Given the description of an element on the screen output the (x, y) to click on. 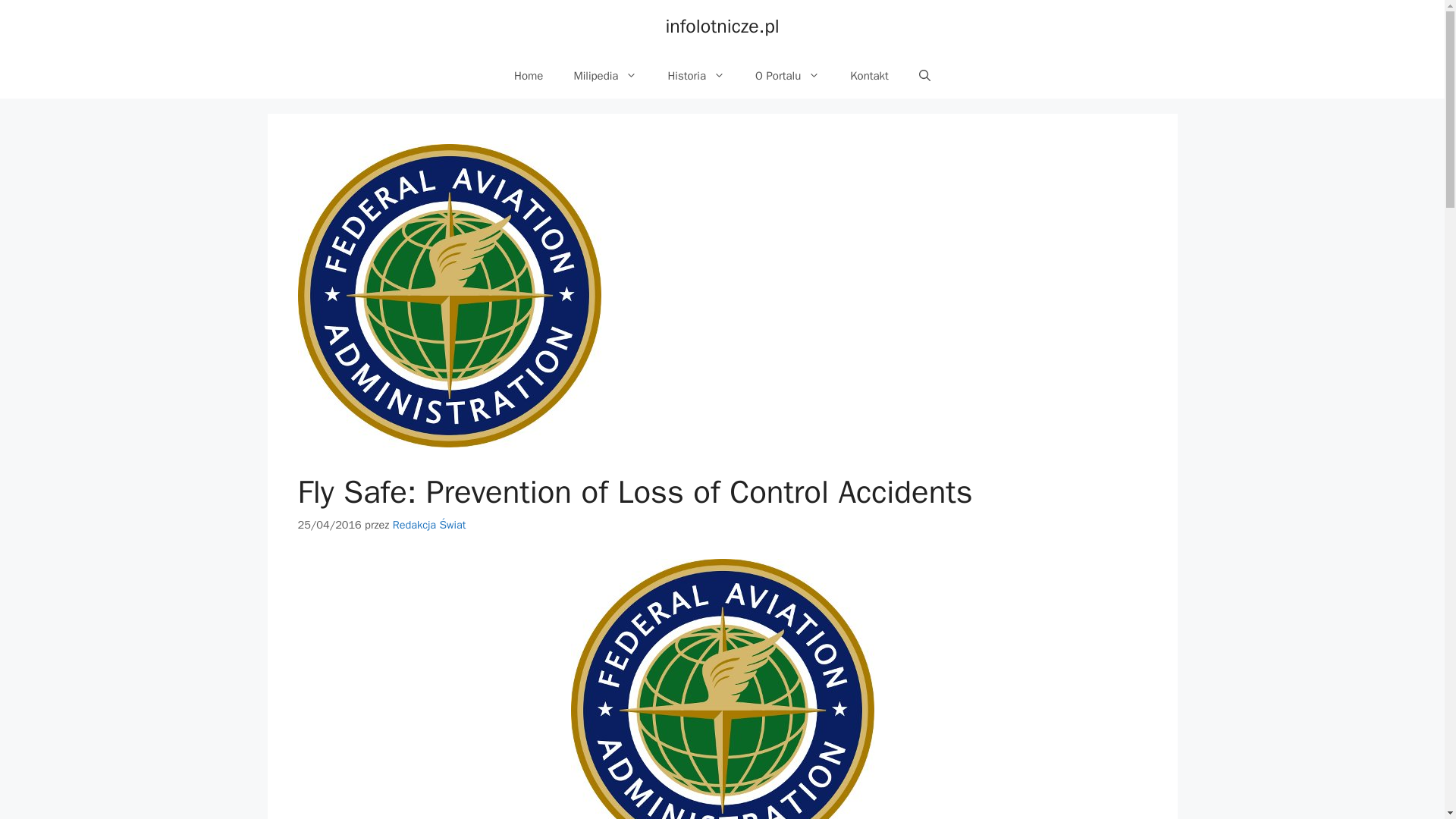
Kontakt (869, 75)
Milipedia (604, 75)
Historia (695, 75)
O Portalu (786, 75)
infolotnicze.pl (721, 25)
Home (528, 75)
